Given the description of an element on the screen output the (x, y) to click on. 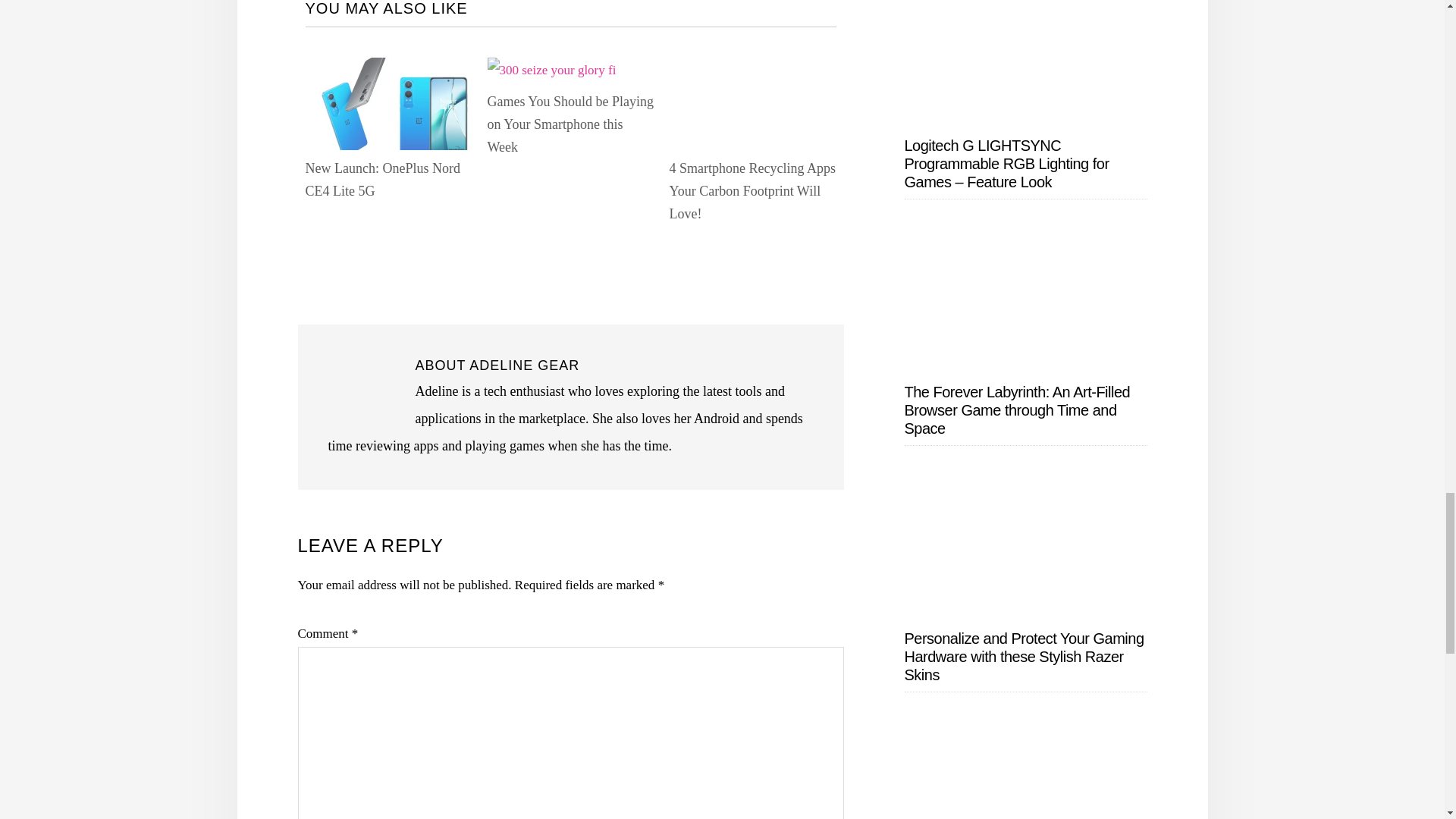
Games You Should be Playing on Your Smartphone this Week (569, 124)
4 Smartphone Recycling Apps Your Carbon Footprint Will Love! (751, 190)
Permanent Link to New Launch: OnePlus Nord CE4 Lite 5G (382, 179)
Permanent Link to New Launch: OnePlus Nord CE4 Lite 5G (387, 69)
New Launch: OnePlus Nord CE4 Lite 5G (382, 179)
